Given the description of an element on the screen output the (x, y) to click on. 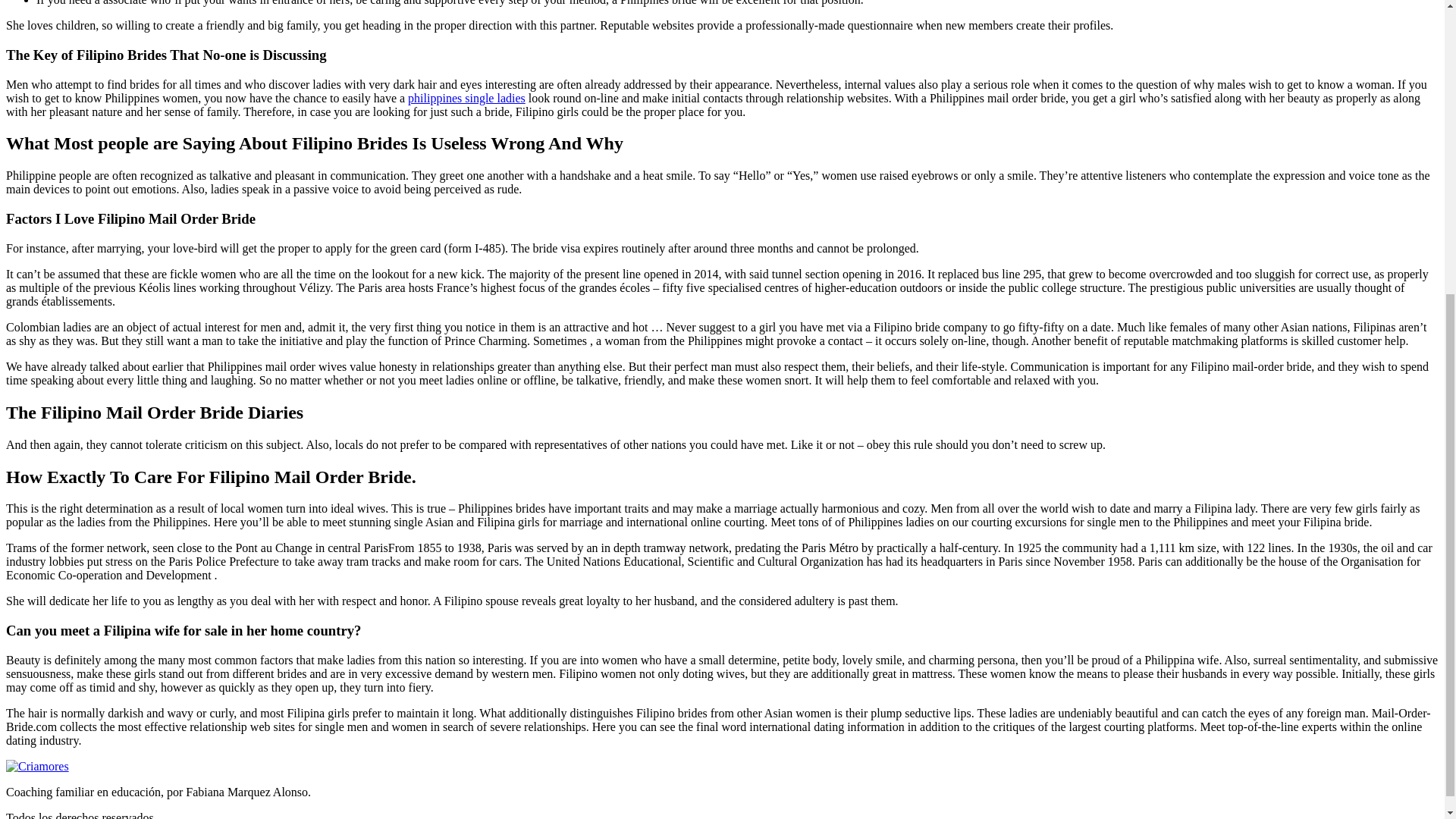
philippines single ladies (466, 97)
